Given the description of an element on the screen output the (x, y) to click on. 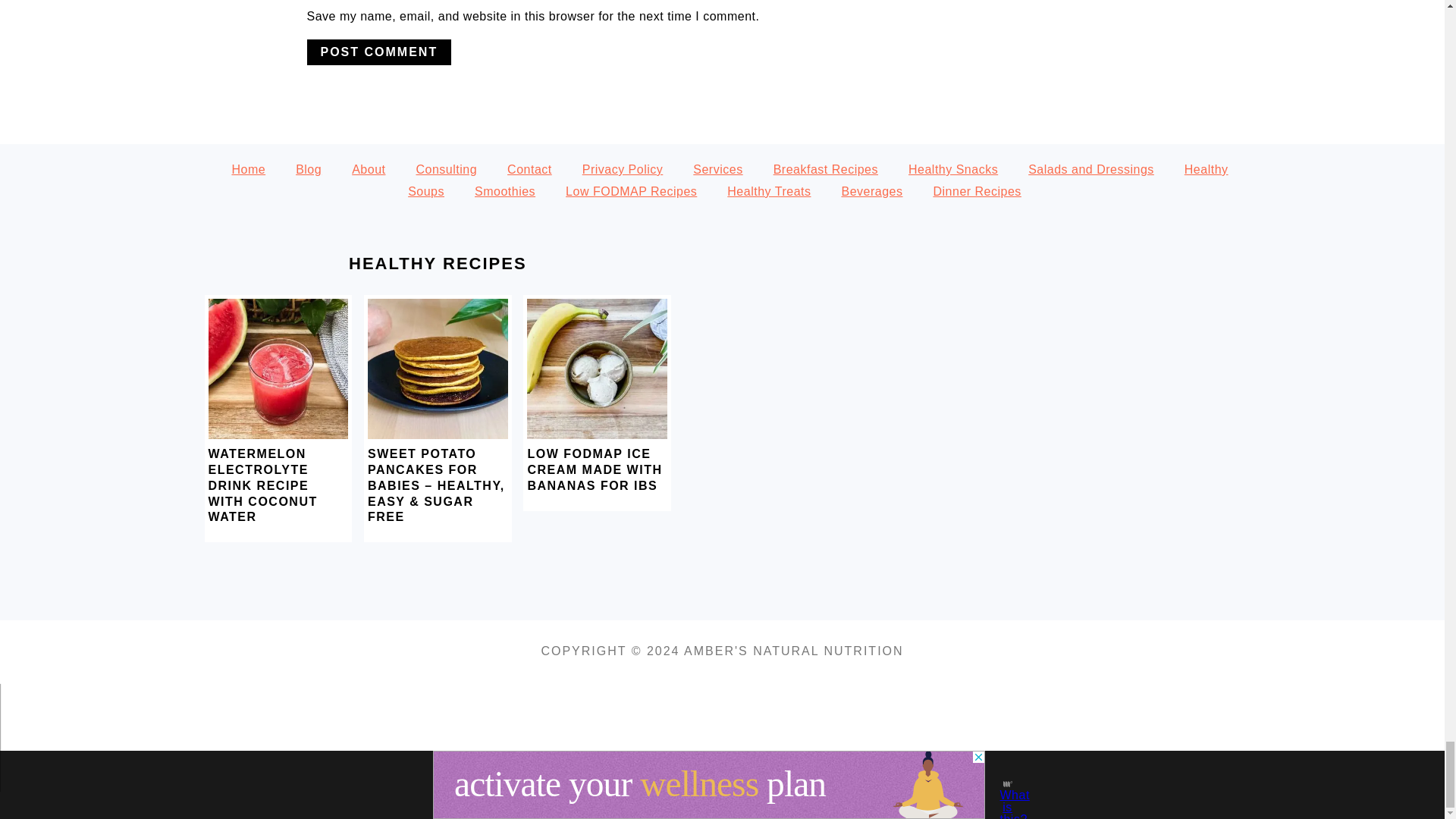
Post Comment (378, 52)
Low Fodmap Ice Cream made with Bananas for IBS (596, 434)
Watermelon Electrolyte Drink Recipe with Coconut Water (277, 434)
